Given the description of an element on the screen output the (x, y) to click on. 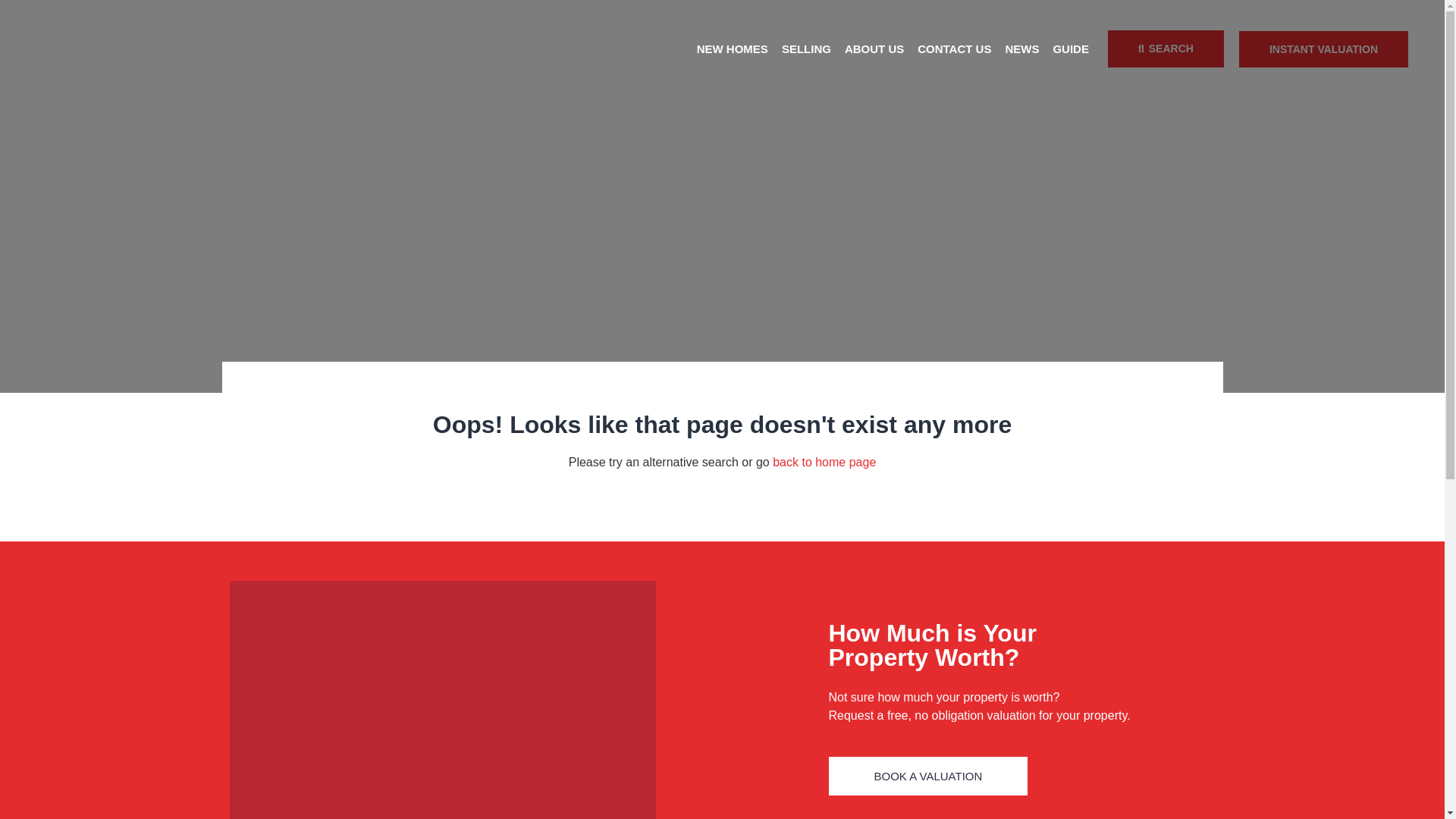
SEARCH (1166, 48)
CONTACT US (954, 48)
back to home page (824, 461)
NEWS (1021, 48)
SELLING (805, 48)
INSTANT VALUATION (1323, 49)
GUIDE (1070, 48)
BOOK A VALUATION (927, 775)
NEW HOMES (732, 48)
ABOUT US (874, 48)
